Given the description of an element on the screen output the (x, y) to click on. 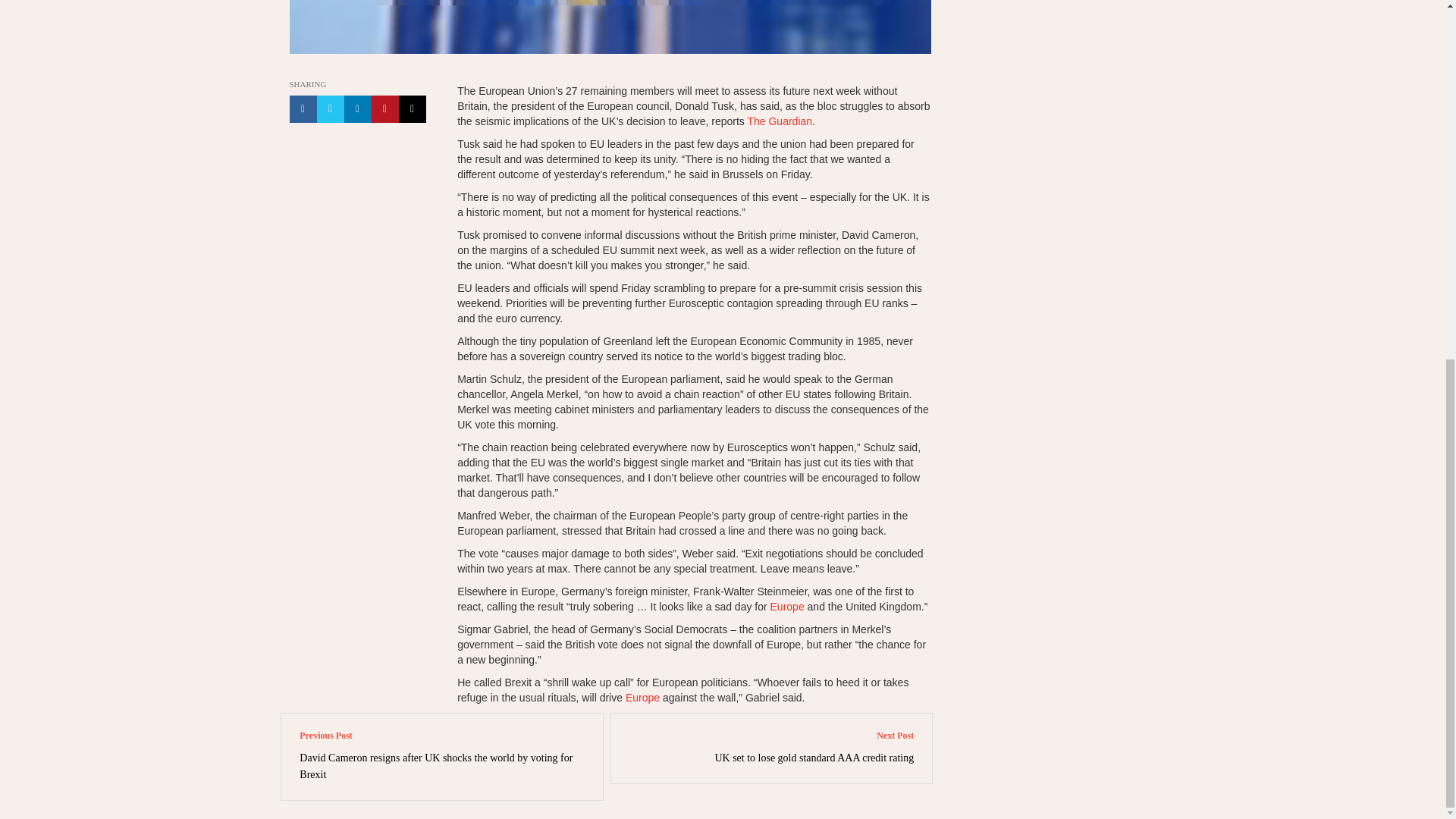
Europe (642, 697)
Europe (787, 606)
The Guardian (779, 121)
